Given the description of an element on the screen output the (x, y) to click on. 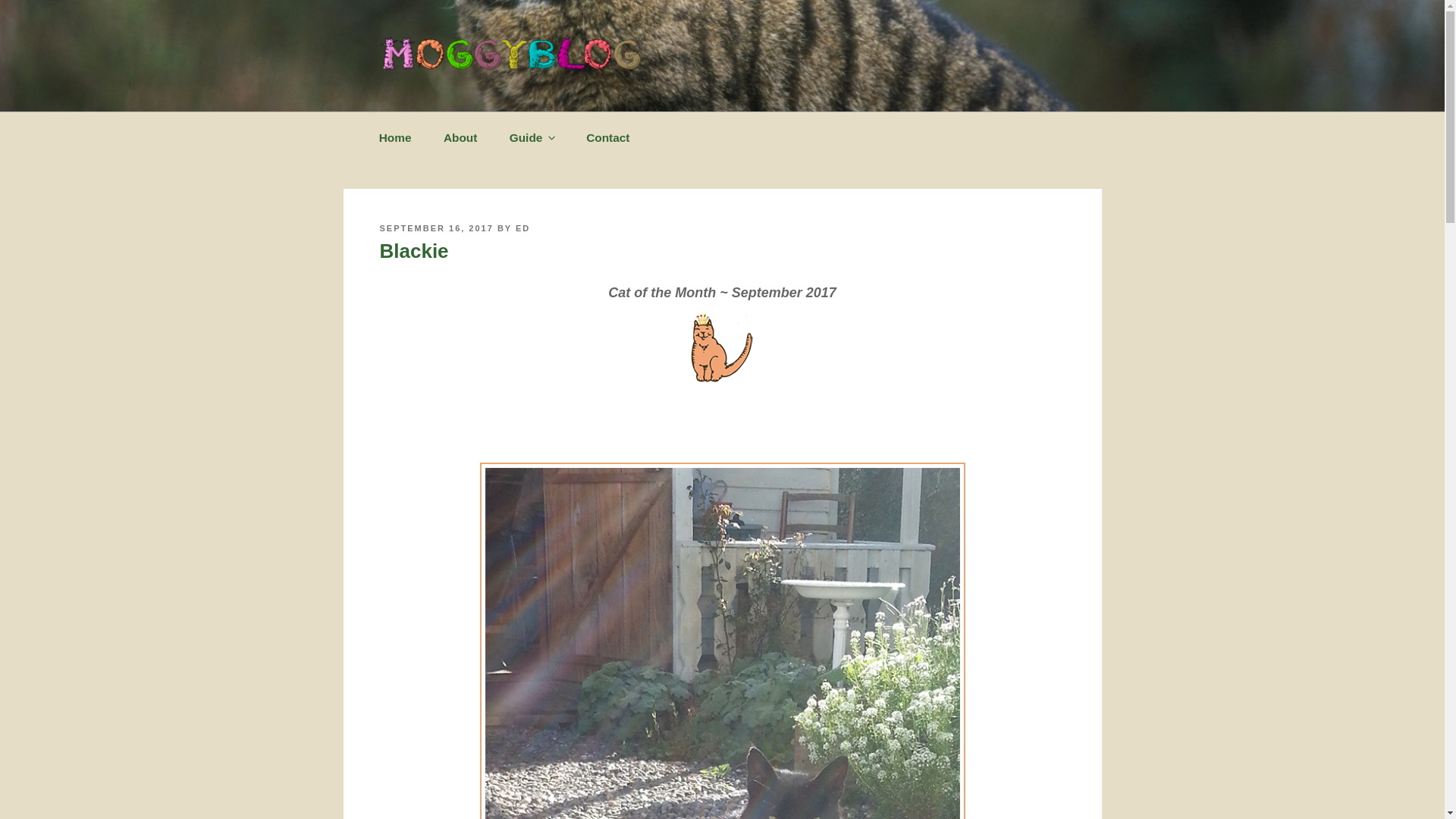
SEPTEMBER 16, 2017 (435, 227)
Home (394, 137)
About (460, 137)
ED (522, 227)
Guide (532, 138)
Contact (608, 137)
